Given the description of an element on the screen output the (x, y) to click on. 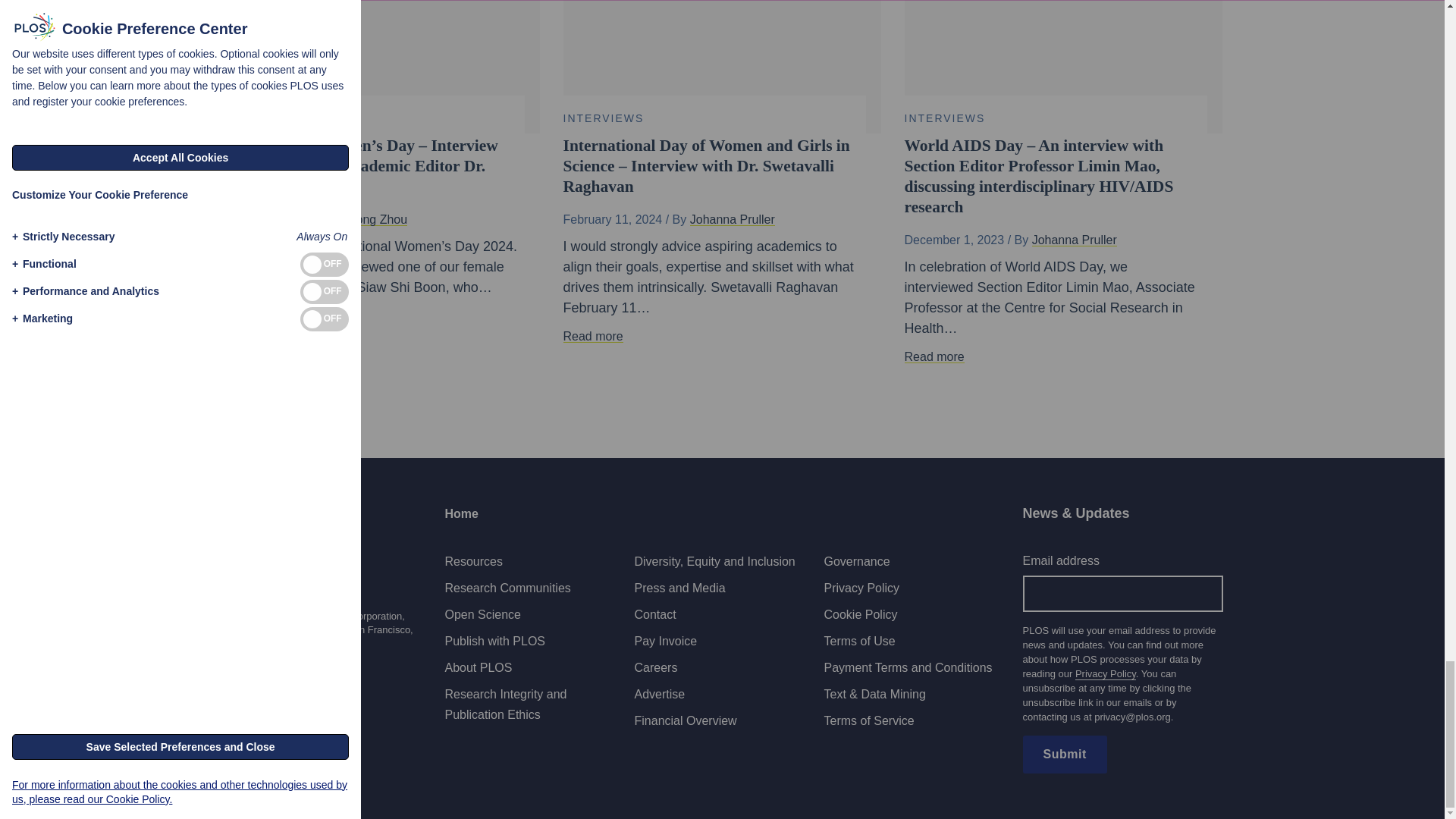
Submit (1064, 754)
